Given the description of an element on the screen output the (x, y) to click on. 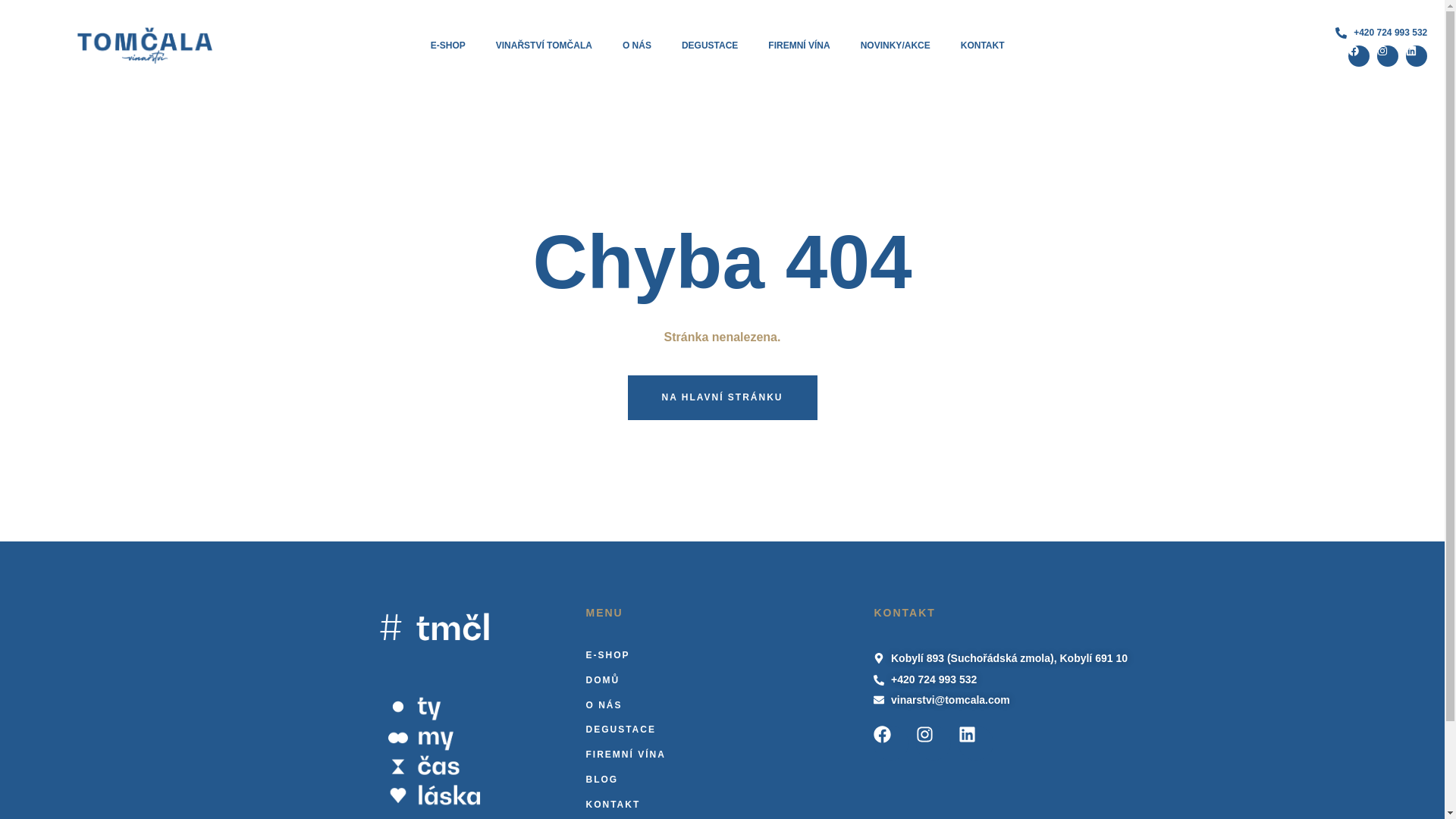
E-SHOP (722, 655)
KONTAKT (982, 45)
BLOG (722, 779)
E-SHOP (447, 45)
DEGUSTACE (722, 729)
KONTAKT (722, 805)
DEGUSTACE (709, 45)
